Given the description of an element on the screen output the (x, y) to click on. 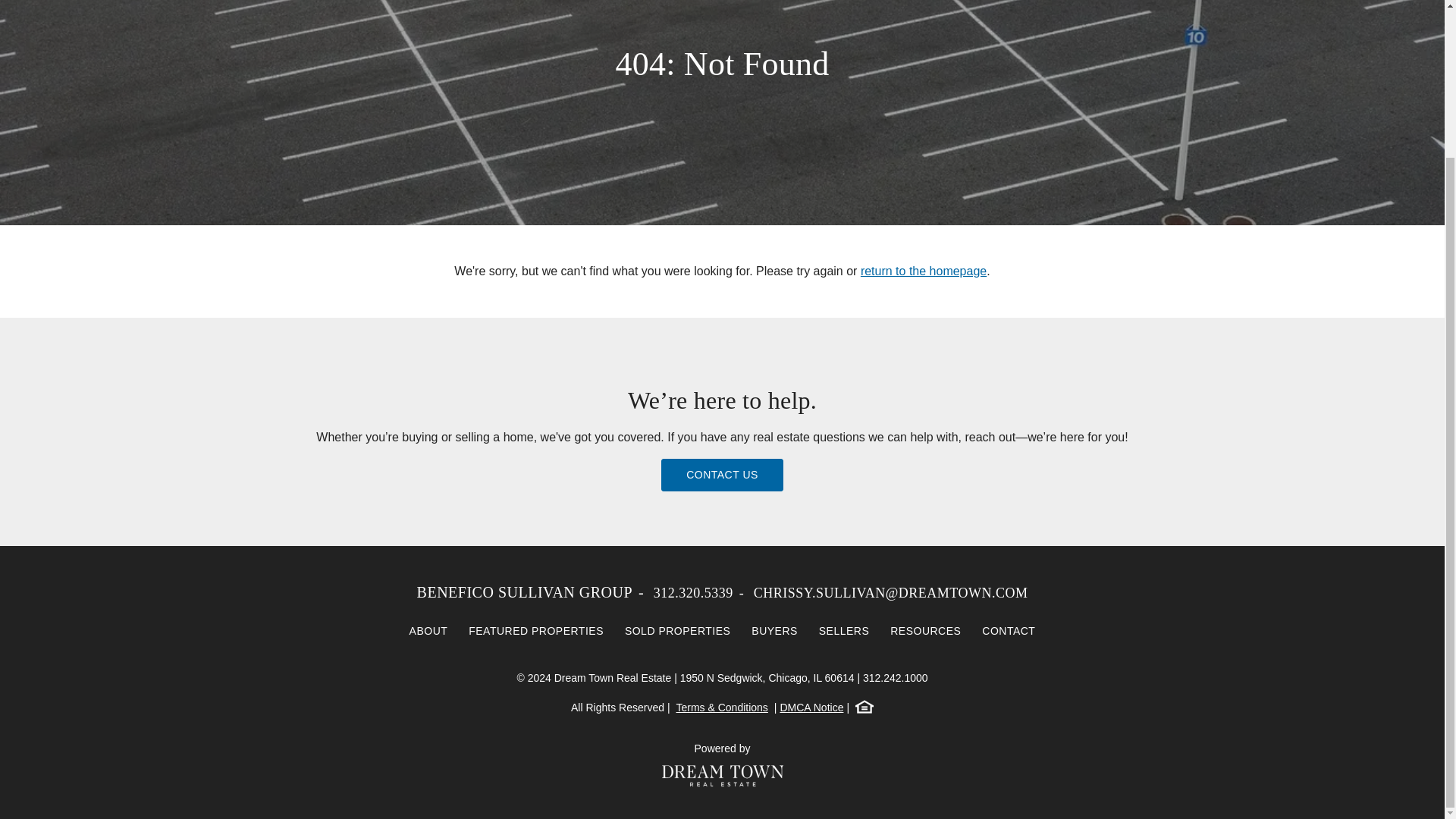
return to the homepage (923, 270)
SOLD PROPERTIES (677, 630)
BENEFICO SULLIVAN GROUP (524, 591)
FEATURED PROPERTIES (536, 630)
CONTACT US (722, 474)
312.320.5339 (693, 592)
ABOUT (428, 630)
CONTACT (1007, 630)
SELLERS (844, 630)
BUYERS (774, 630)
Dream Town Real Estate (722, 774)
RESOURCES (924, 630)
312.242.1000 (895, 677)
